Given the description of an element on the screen output the (x, y) to click on. 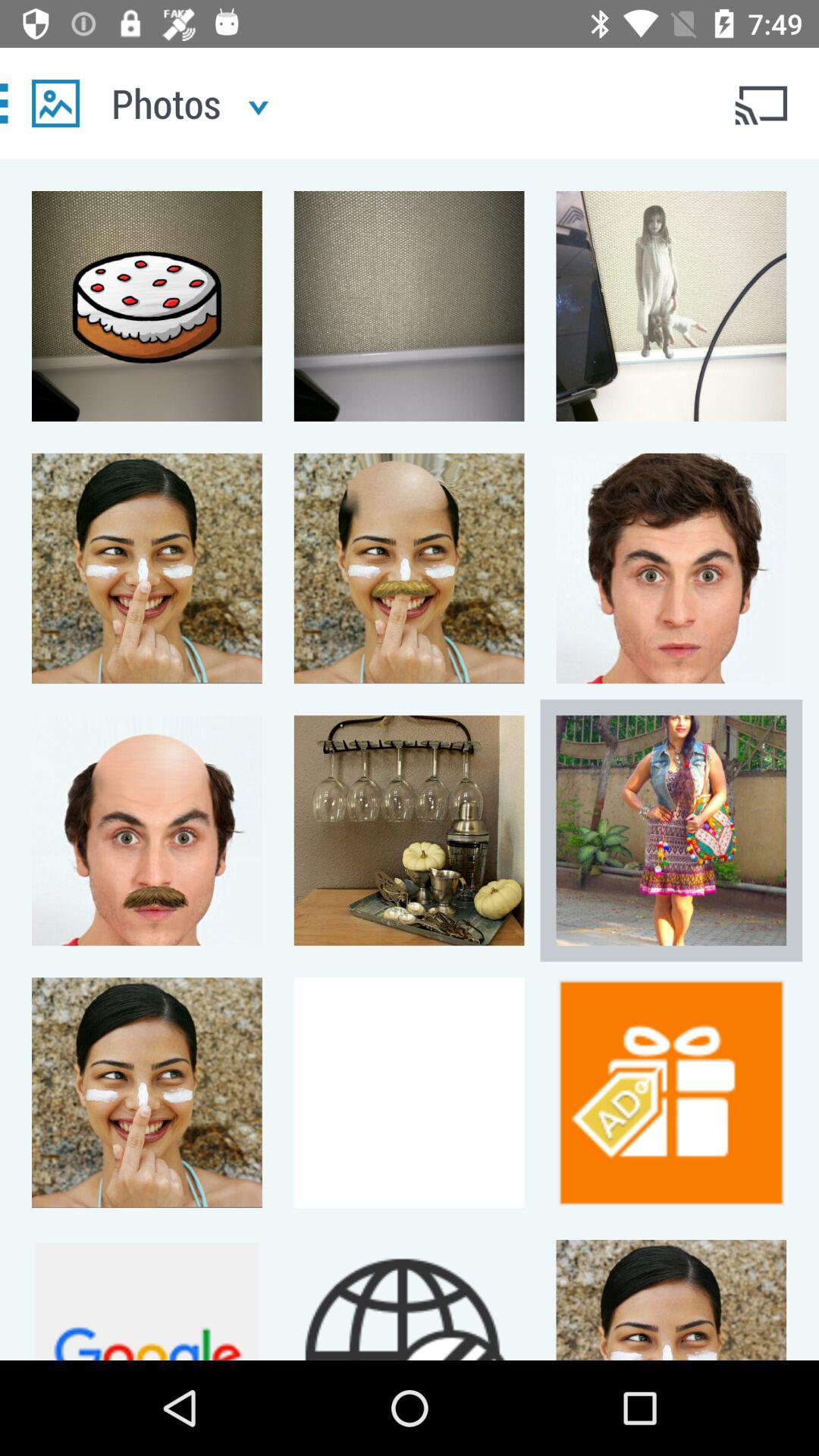
gallery icon (55, 103)
